Given the description of an element on the screen output the (x, y) to click on. 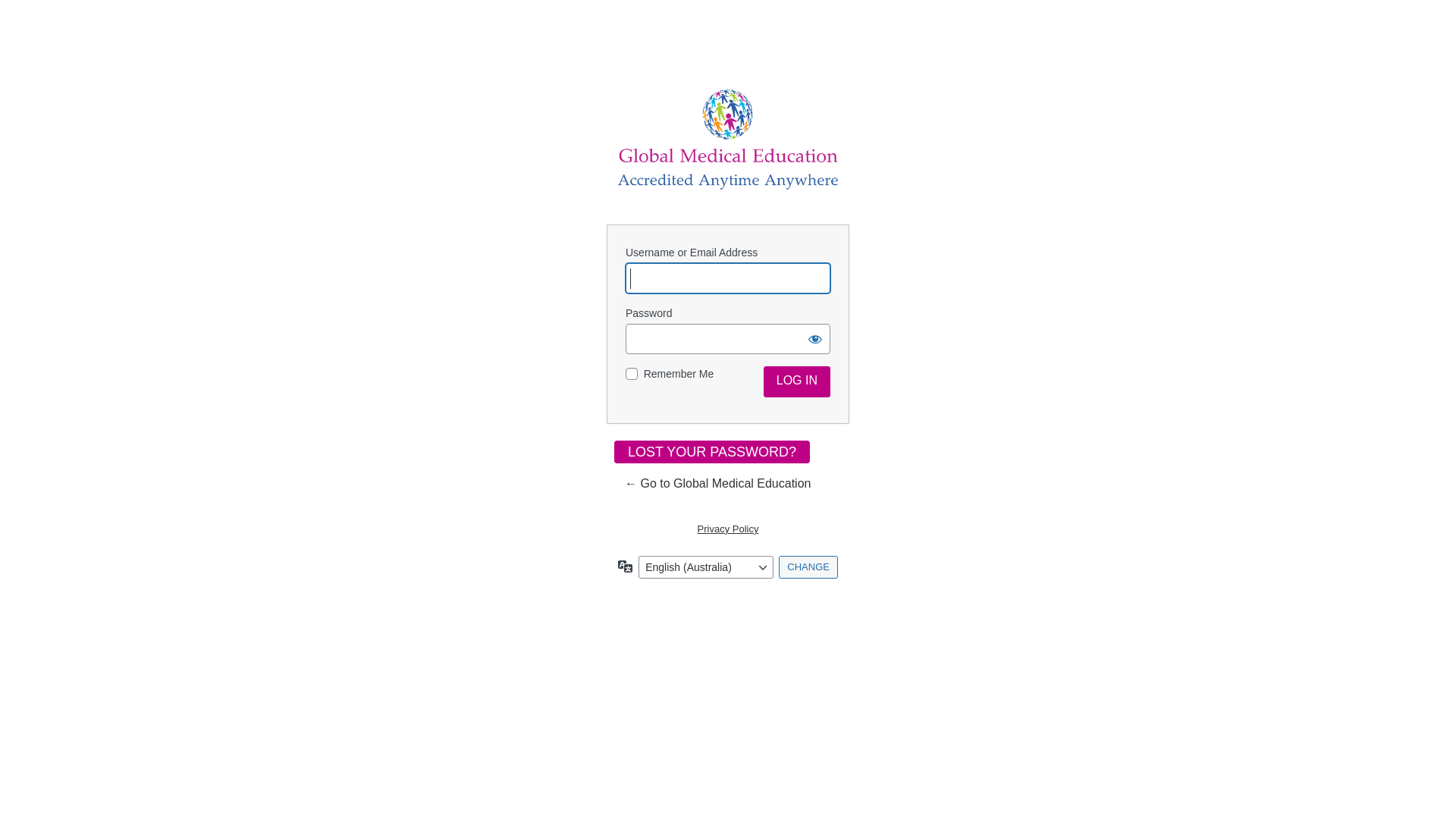
Change Element type: text (807, 566)
Global Medical Education Element type: text (727, 138)
LOST YOUR PASSWORD? Element type: text (711, 452)
Log In Element type: text (796, 381)
Privacy Policy Element type: text (728, 528)
